Given the description of an element on the screen output the (x, y) to click on. 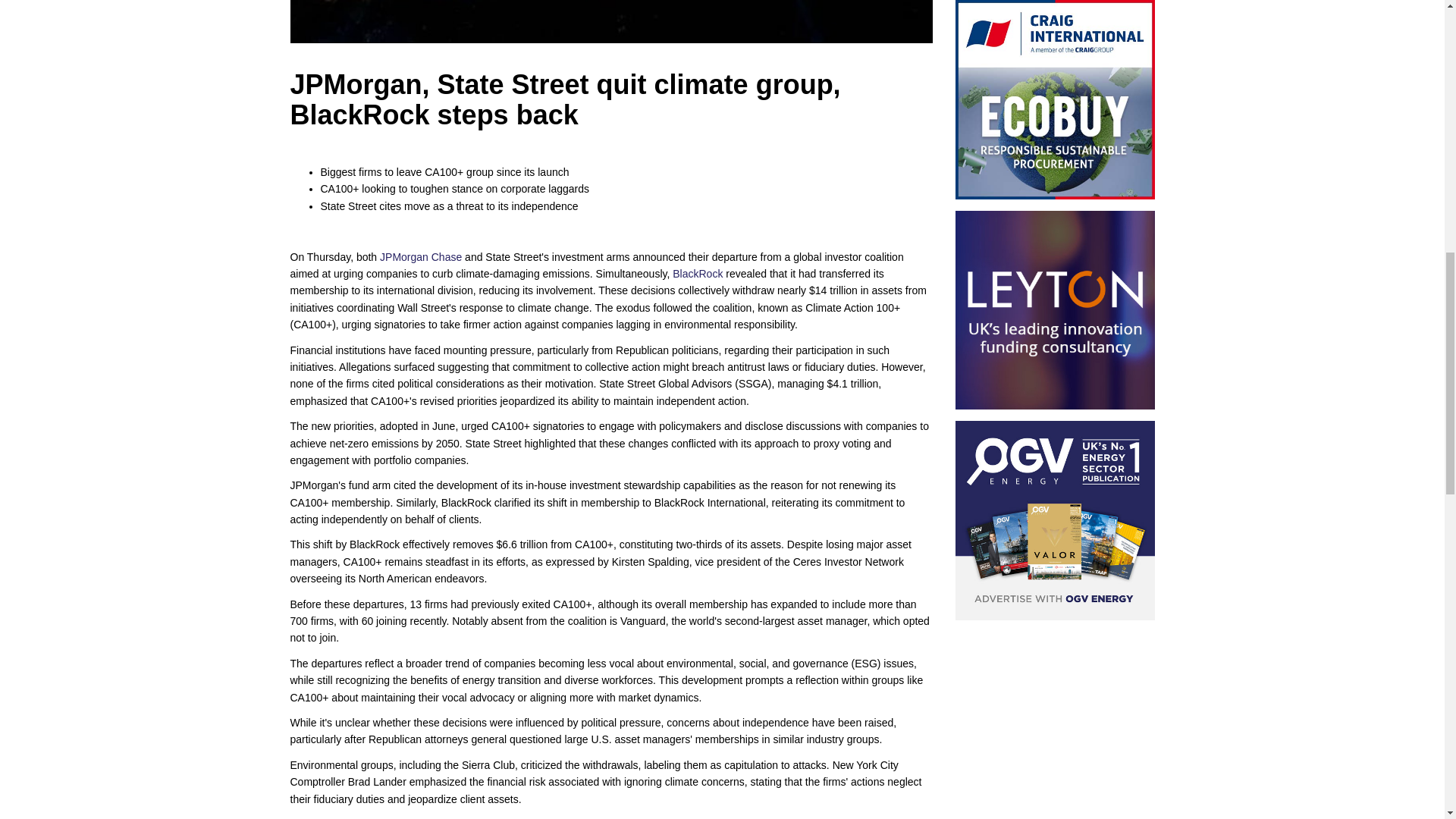
BlackRock (697, 273)
JPMorgan Chase (420, 256)
